Given the description of an element on the screen output the (x, y) to click on. 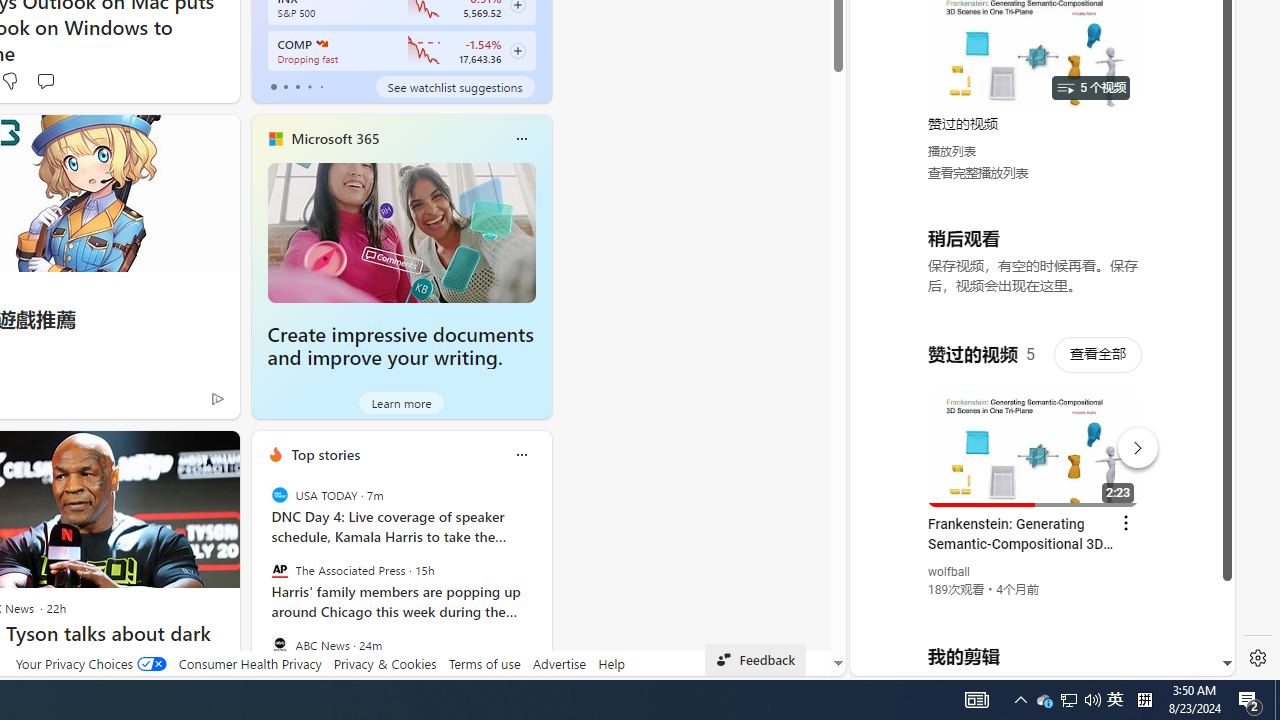
you (1034, 609)
The Associated Press (279, 570)
More options (521, 454)
See watchlist suggestions (454, 86)
USA TODAY (279, 494)
Advertise (559, 663)
Your Privacy Choices (90, 663)
Learn more (401, 402)
wolfball (949, 572)
next (541, 583)
Class: icon-img (521, 454)
